Given the description of an element on the screen output the (x, y) to click on. 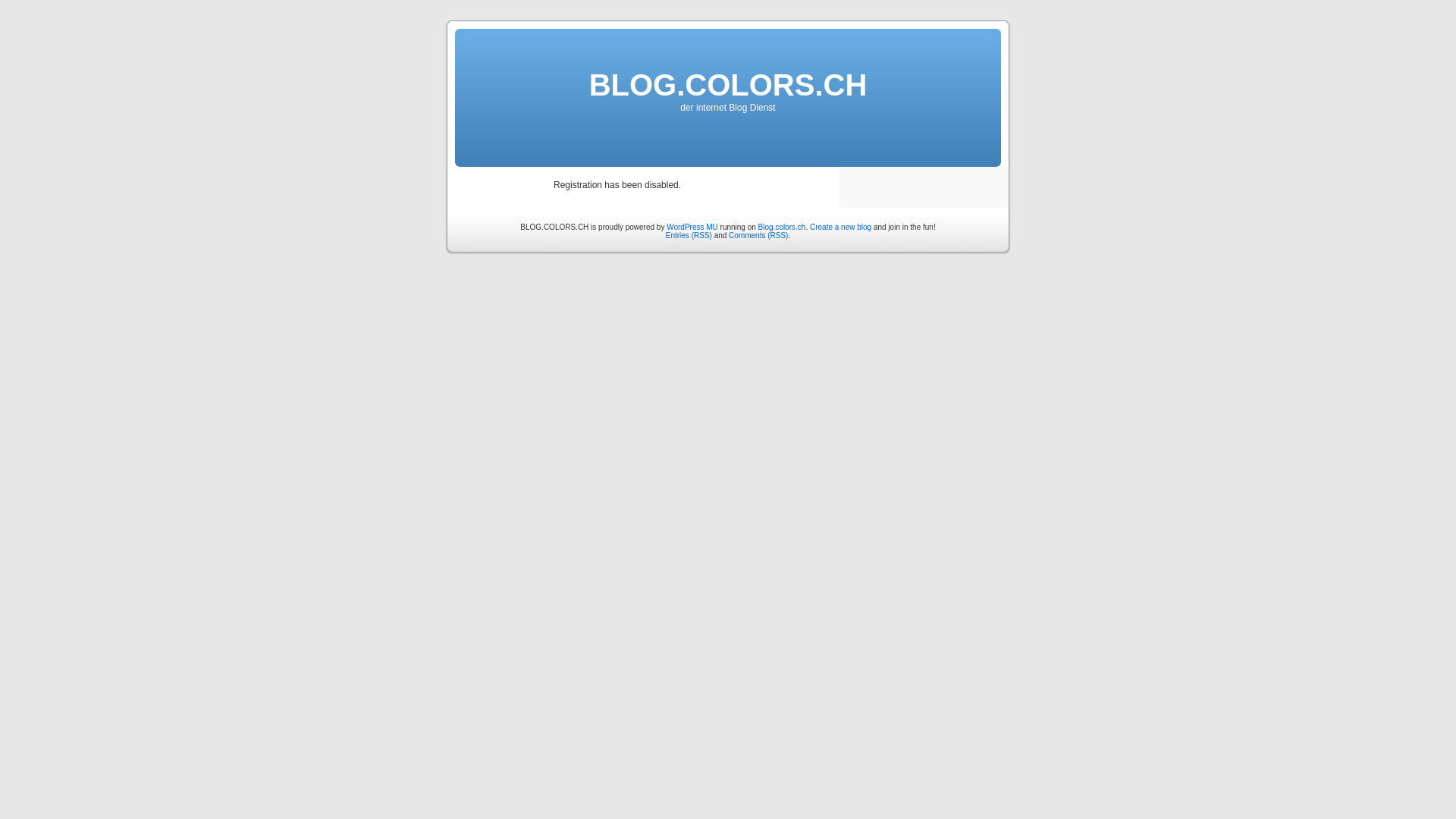
Entries (RSS) Element type: text (688, 235)
Comments (RSS) Element type: text (757, 235)
WordPress MU Element type: text (692, 226)
Blog.colors.ch Element type: text (782, 226)
Create a new blog Element type: text (840, 226)
BLOG.COLORS.CH Element type: text (728, 84)
